Given the description of an element on the screen output the (x, y) to click on. 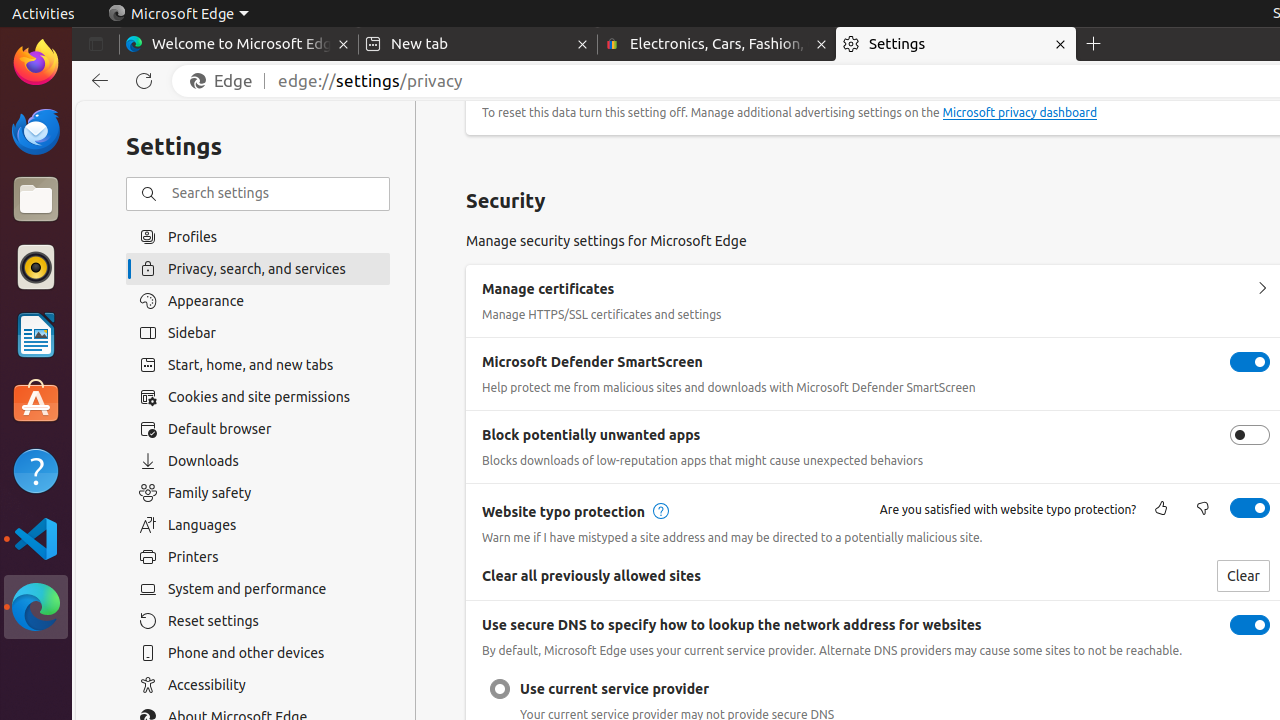
Website typo protection Element type: check-box (1250, 508)
Block potentially unwanted apps Element type: check-box (1250, 435)
Family safety Element type: tree-item (258, 493)
Firefox Web Browser Element type: push-button (36, 63)
Electronics, Cars, Fashion, Collectibles & More | eBay Element type: page-tab (717, 44)
